Given the description of an element on the screen output the (x, y) to click on. 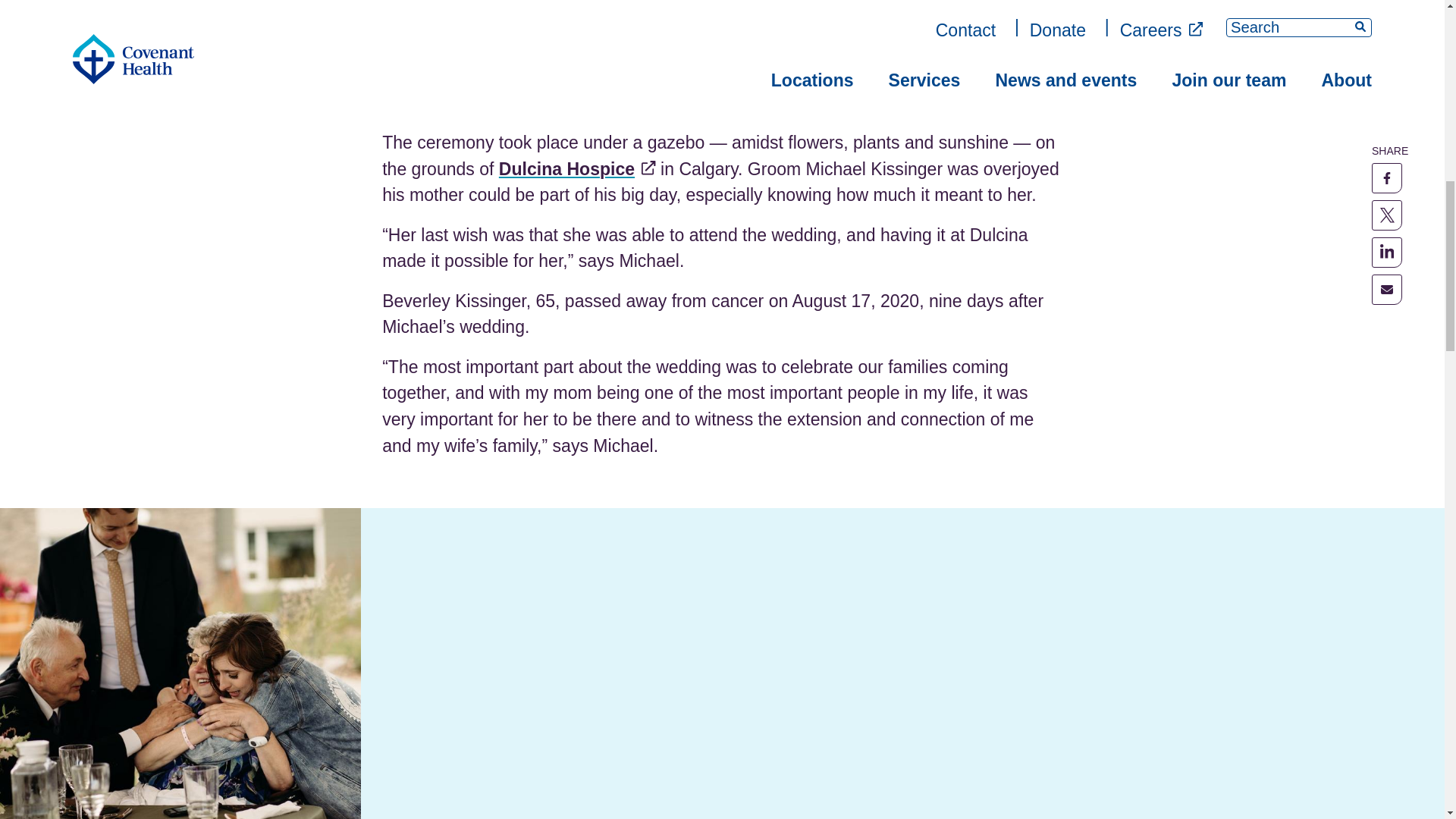
External Link (648, 167)
